Given the description of an element on the screen output the (x, y) to click on. 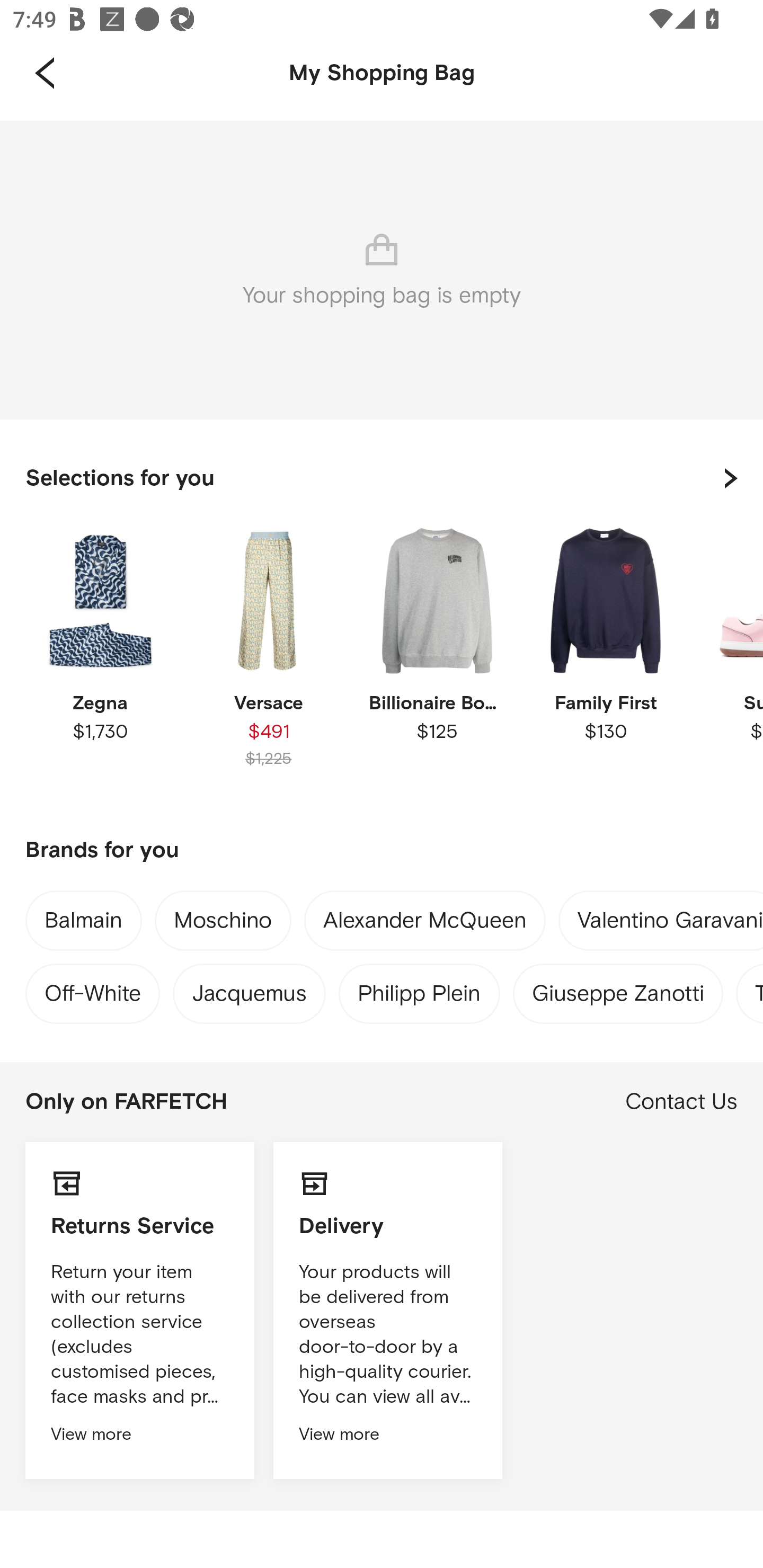
Selections for you (381, 477)
Zegna $1,730 (100, 660)
Versace $491 $1,225 (268, 660)
Billionaire Boys Club $125 (436, 660)
Family First $130 (605, 660)
Brands for you (381, 850)
Balmain (83, 922)
Moschino (222, 924)
Alexander McQueen (424, 924)
Valentino Garavani (670, 924)
Off-White (92, 988)
Jacquemus (248, 988)
Philipp Plein (419, 988)
Giuseppe Zanotti (617, 988)
Contact Us (680, 1101)
